Given the description of an element on the screen output the (x, y) to click on. 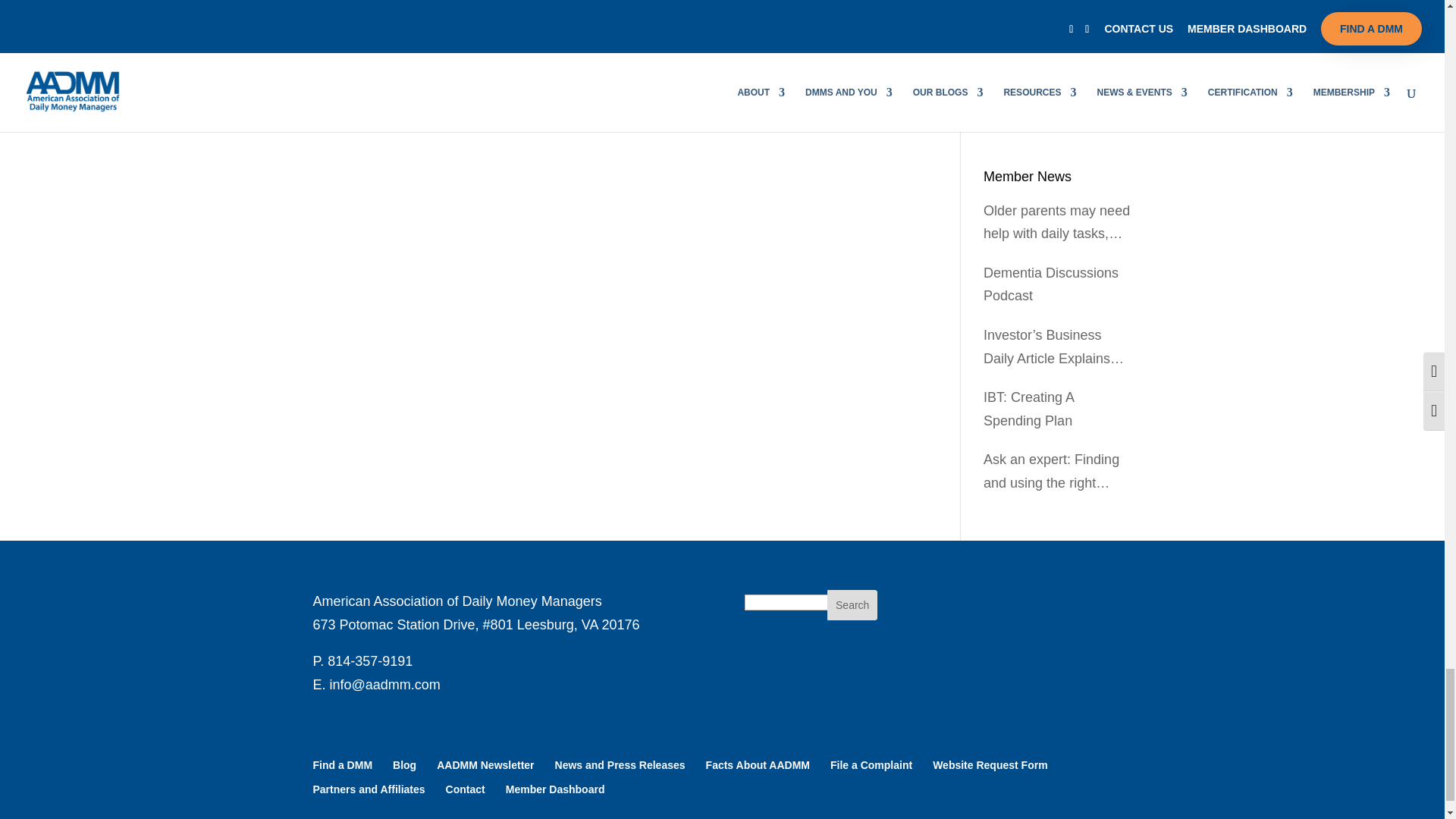
Search (852, 604)
